Given the description of an element on the screen output the (x, y) to click on. 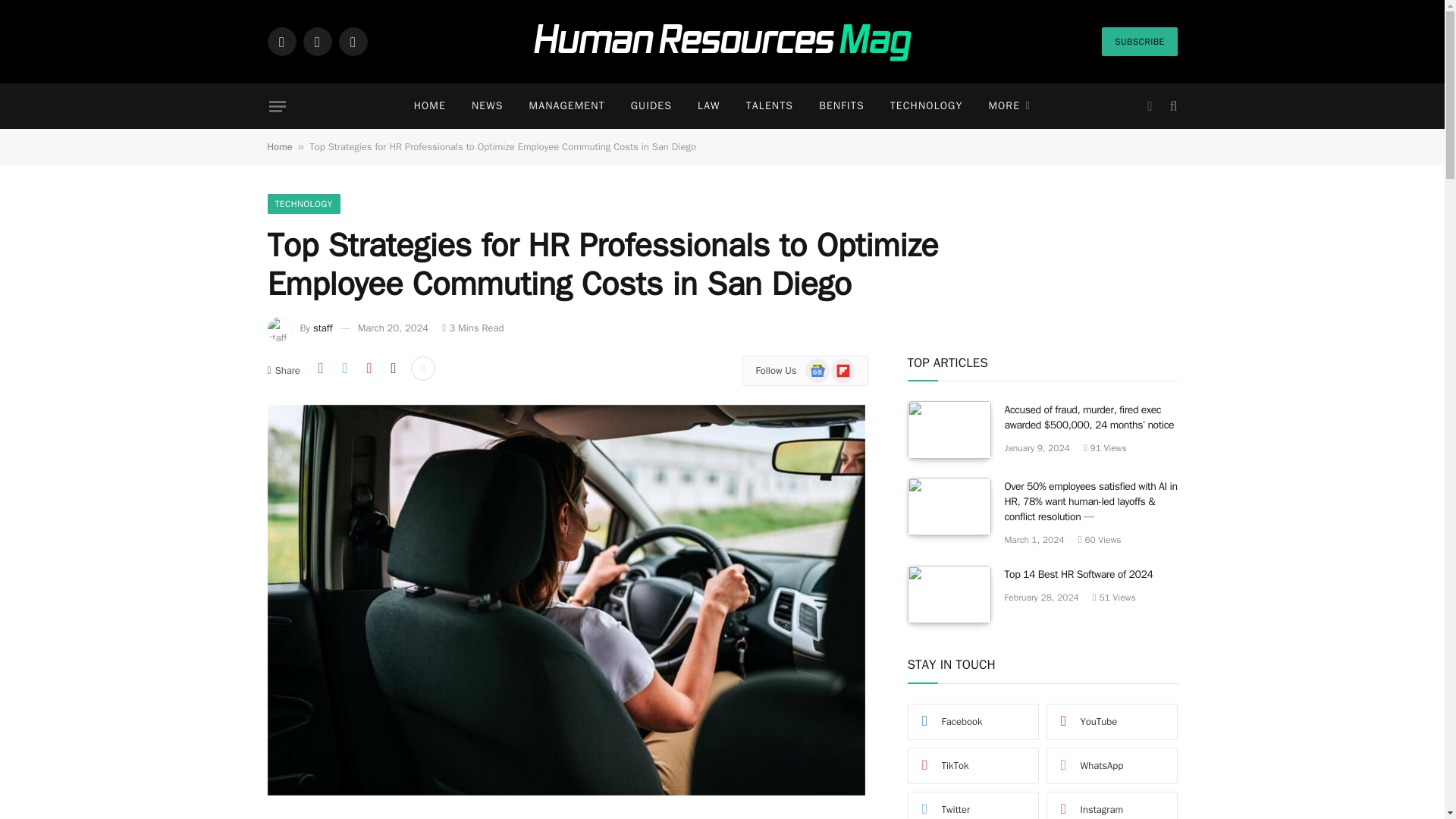
Human Resources Mag (721, 41)
Posts by staff (323, 327)
TALENTS (769, 105)
Instagram (351, 41)
Facebook (280, 41)
TECHNOLOGY (926, 105)
Switch to Dark Design - easier on eyes. (1149, 106)
MANAGEMENT (566, 105)
LAW (708, 105)
BENFITS (841, 105)
